Given the description of an element on the screen output the (x, y) to click on. 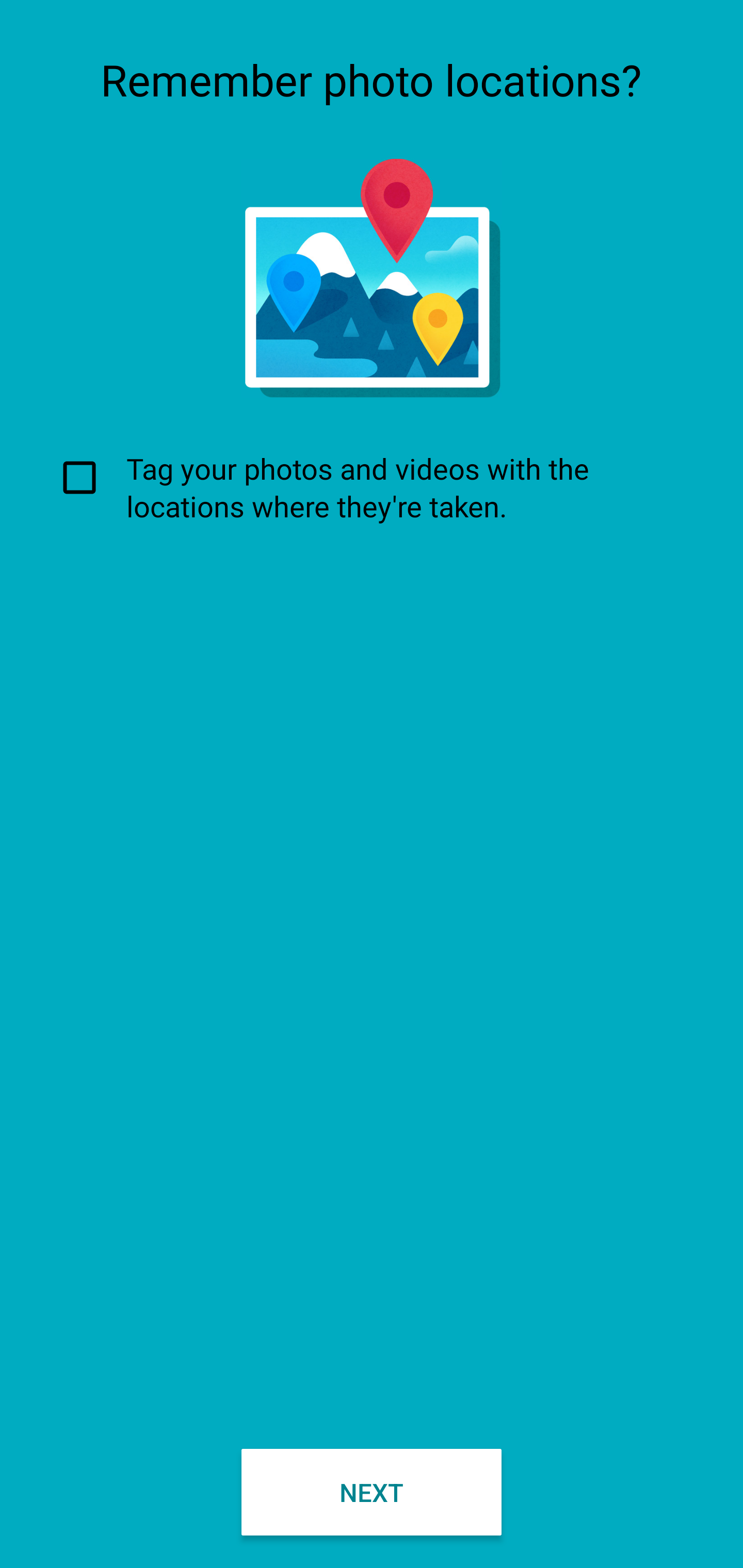
NEXT (371, 1491)
